Given the description of an element on the screen output the (x, y) to click on. 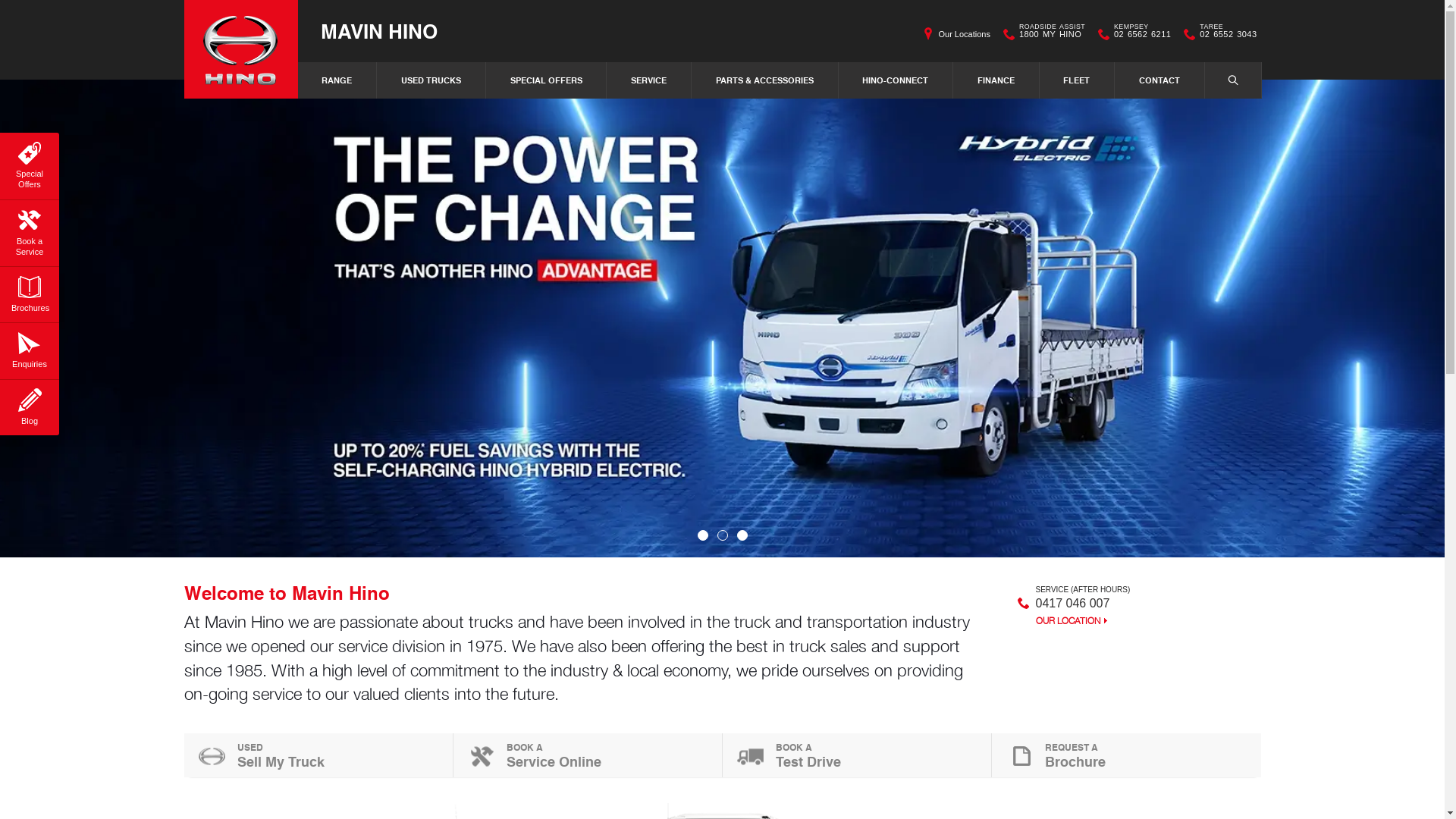
KEMPSEY
02 6562 6211 Element type: text (1142, 33)
FLEET Element type: text (1077, 80)
Mavin Hino Element type: hover (240, 49)
REQUEST A
Brochure Element type: text (1126, 755)
CONTACT Element type: text (1159, 80)
SERVICE Element type: text (648, 80)
BOOK A
Test Drive Element type: text (856, 755)
SEARCH Element type: text (1232, 80)
OUR LOCATION Element type: text (1071, 620)
HINO-CONNECT Element type: text (895, 80)
PARTS & ACCESSORIES Element type: text (764, 80)
RANGE Element type: text (337, 80)
SPECIAL OFFERS Element type: text (546, 80)
Our Locations Element type: text (963, 33)
Enquiries Element type: text (29, 347)
USED TRUCKS Element type: text (431, 80)
Special Offers Element type: text (29, 163)
USED
Sell My Truck Element type: text (317, 755)
Blog Element type: text (29, 404)
BOOK A
Service Online Element type: text (587, 755)
ROADSIDE ASSIST
1800 MY HINO Element type: text (1052, 33)
Brochures Element type: text (29, 291)
FINANCE Element type: text (996, 80)
TAREE
02 6552 3043 Element type: text (1227, 33)
MAVIN HINO Element type: text (378, 30)
Book a Service Element type: text (29, 230)
